Given the description of an element on the screen output the (x, y) to click on. 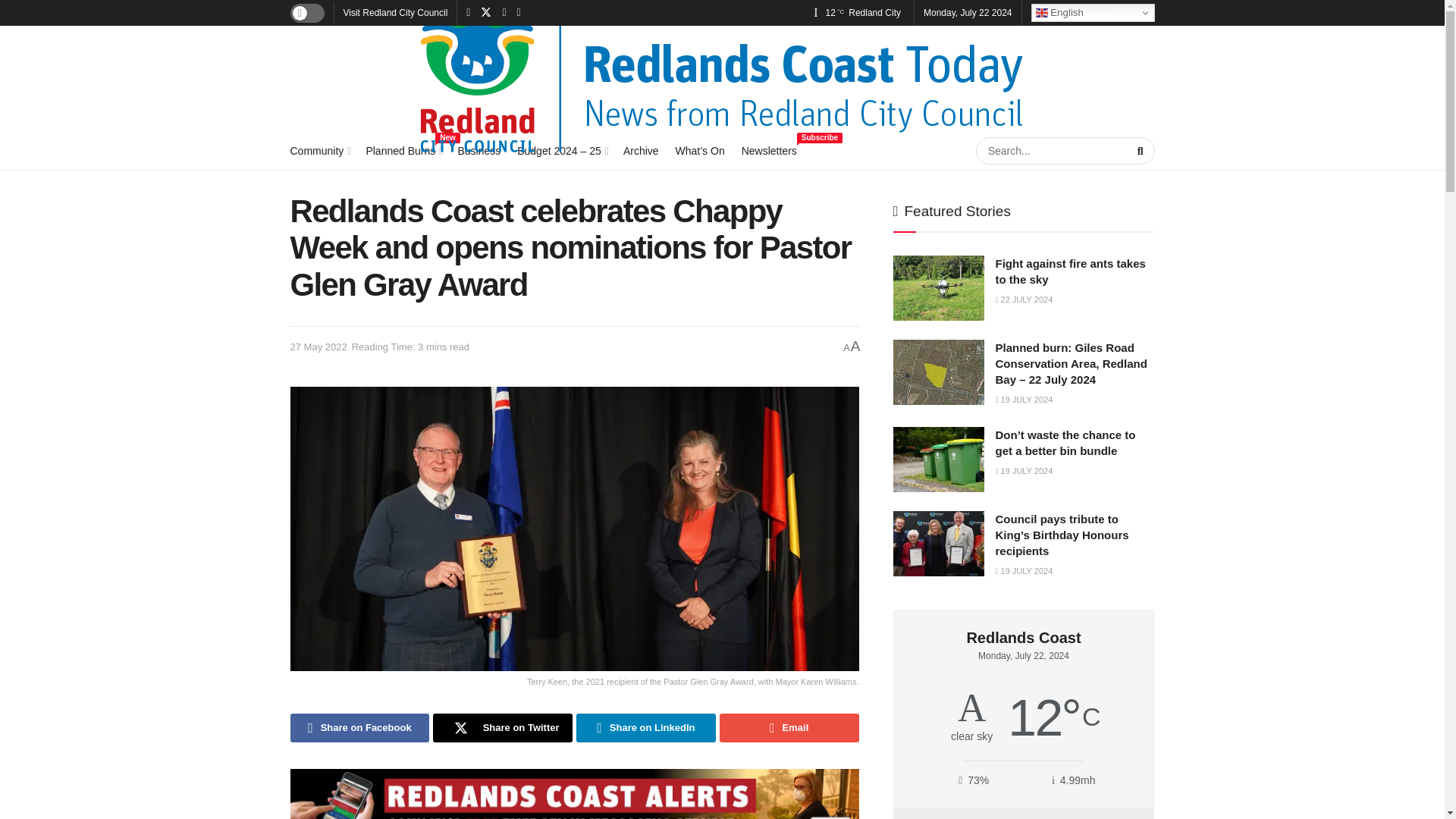
Community (319, 150)
English (1092, 13)
Business (478, 150)
Archive (641, 150)
Visit Redland City Council (403, 150)
